Given the description of an element on the screen output the (x, y) to click on. 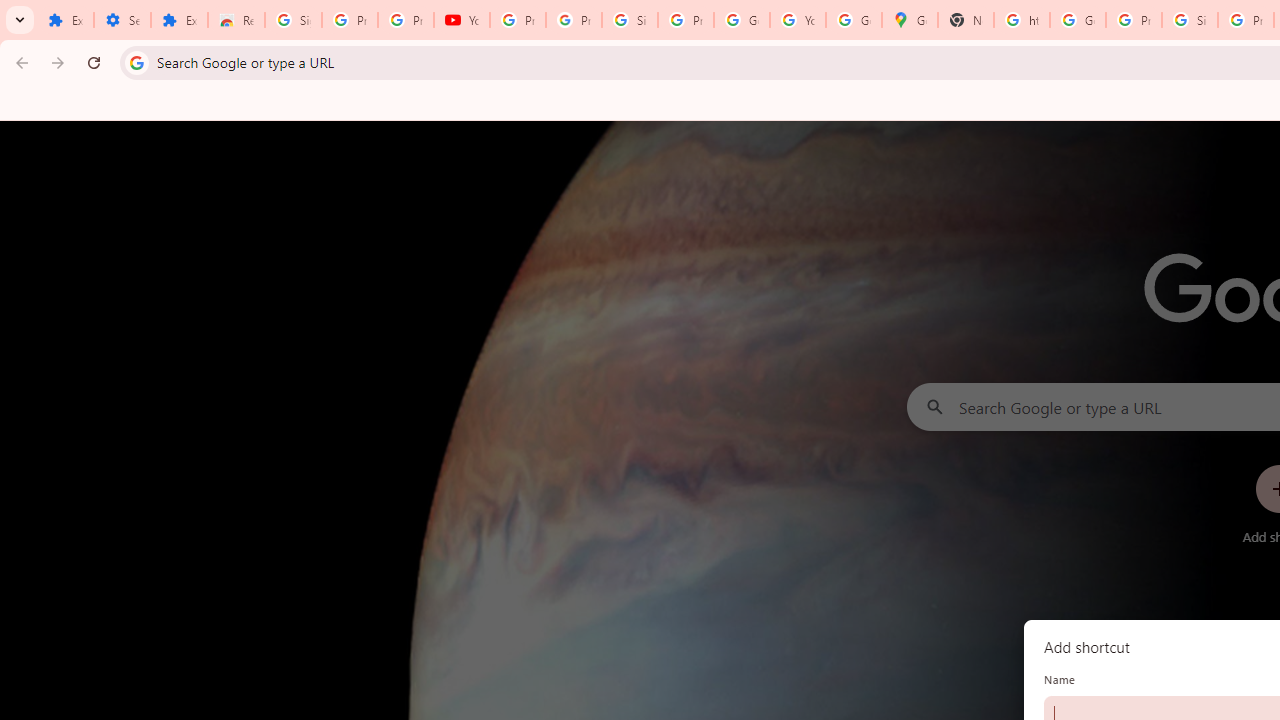
Reviews: Helix Fruit Jump Arcade Game (235, 20)
New Tab (966, 20)
Sign in - Google Accounts (629, 20)
YouTube (461, 20)
